Given the description of an element on the screen output the (x, y) to click on. 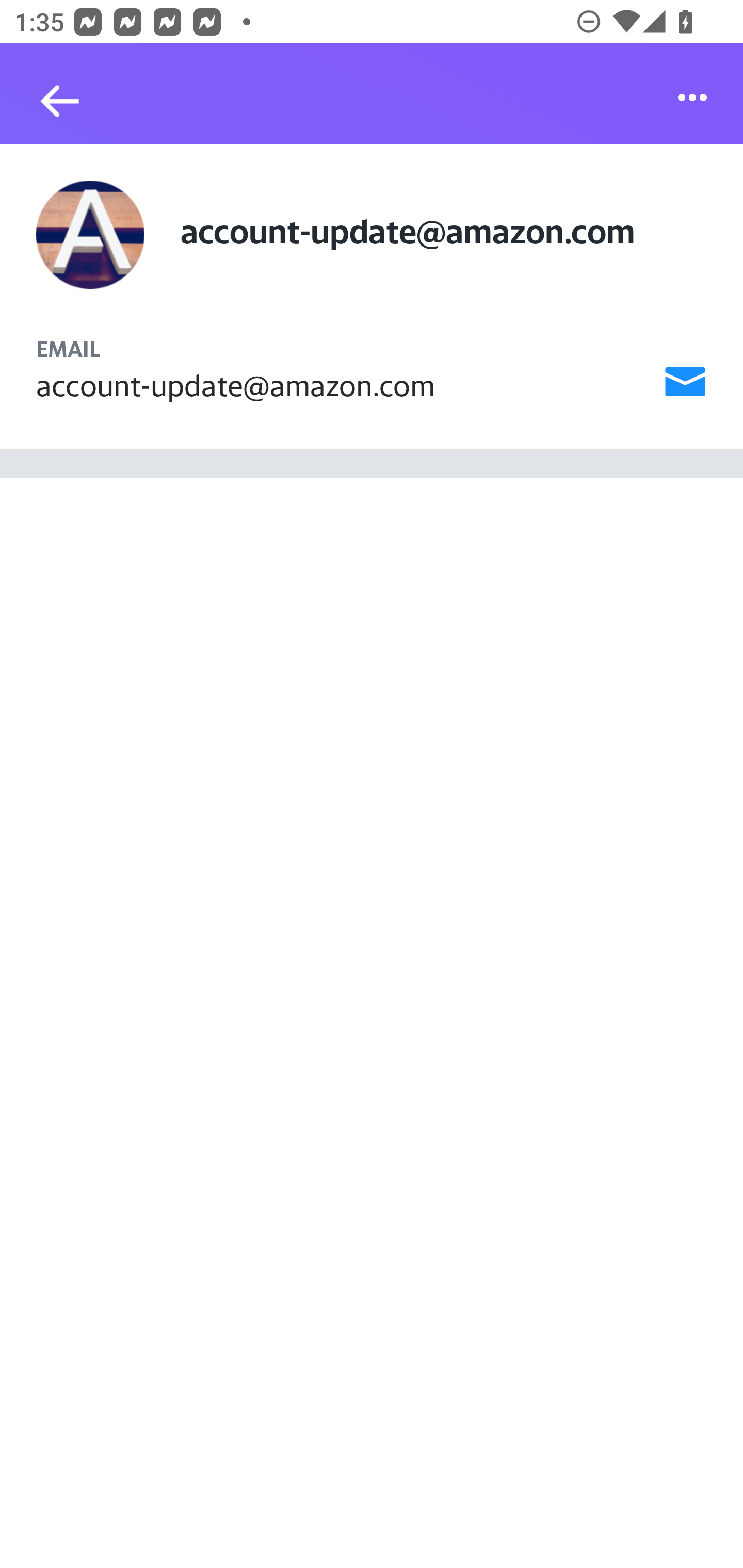
Back (50, 101)
More options (692, 97)
Tap to send email (684, 381)
